Given the description of an element on the screen output the (x, y) to click on. 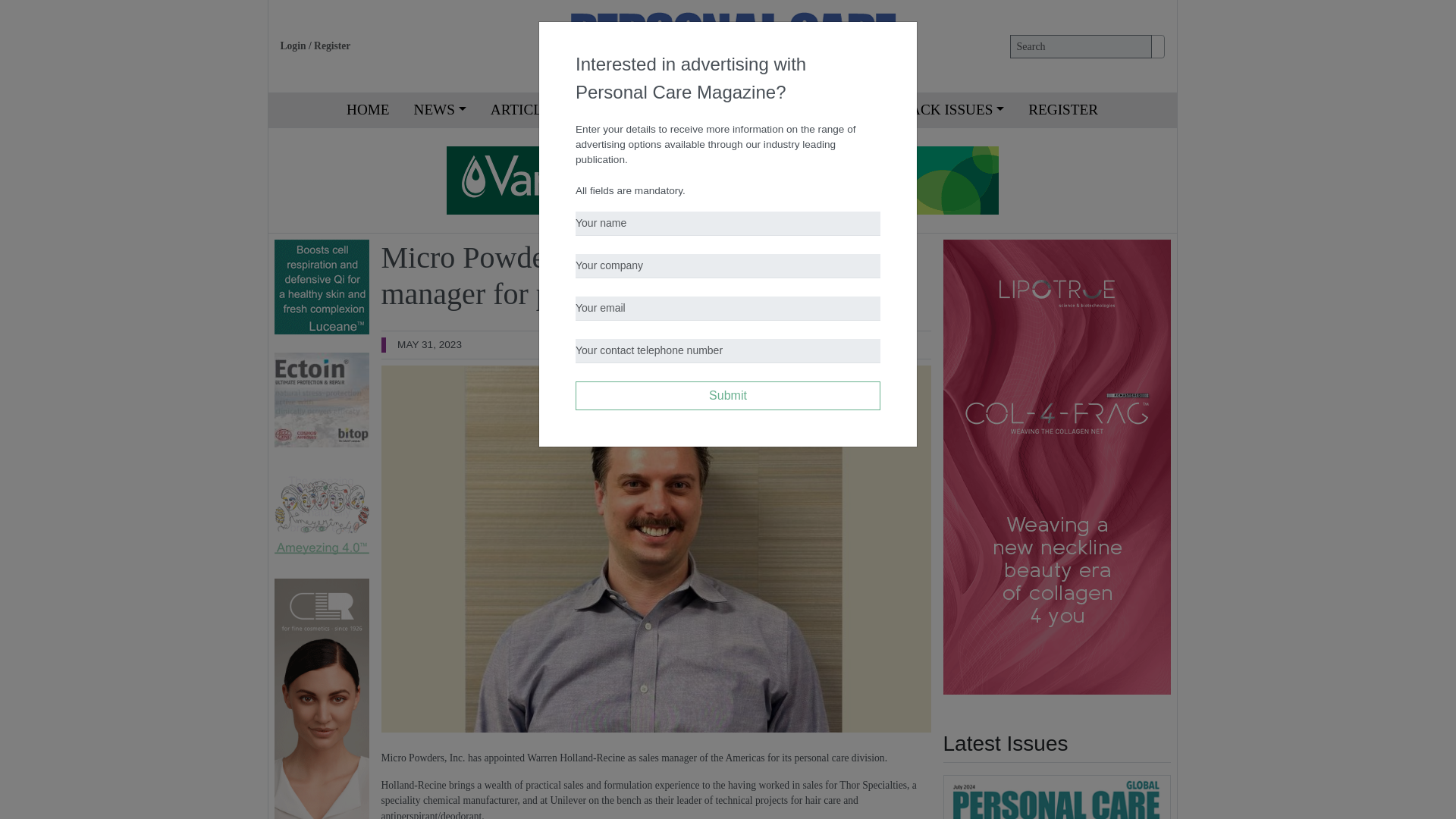
FORMULATIONS (749, 110)
REGISTER (1062, 110)
SUPPLIERS (631, 110)
BACK ISSUES (952, 110)
The July 2024 issue of Personal Care Global (1056, 796)
NEWS (440, 110)
ARTICLES (530, 110)
HOME (367, 110)
Login (293, 45)
DIARY (853, 110)
Register (332, 45)
